Given the description of an element on the screen output the (x, y) to click on. 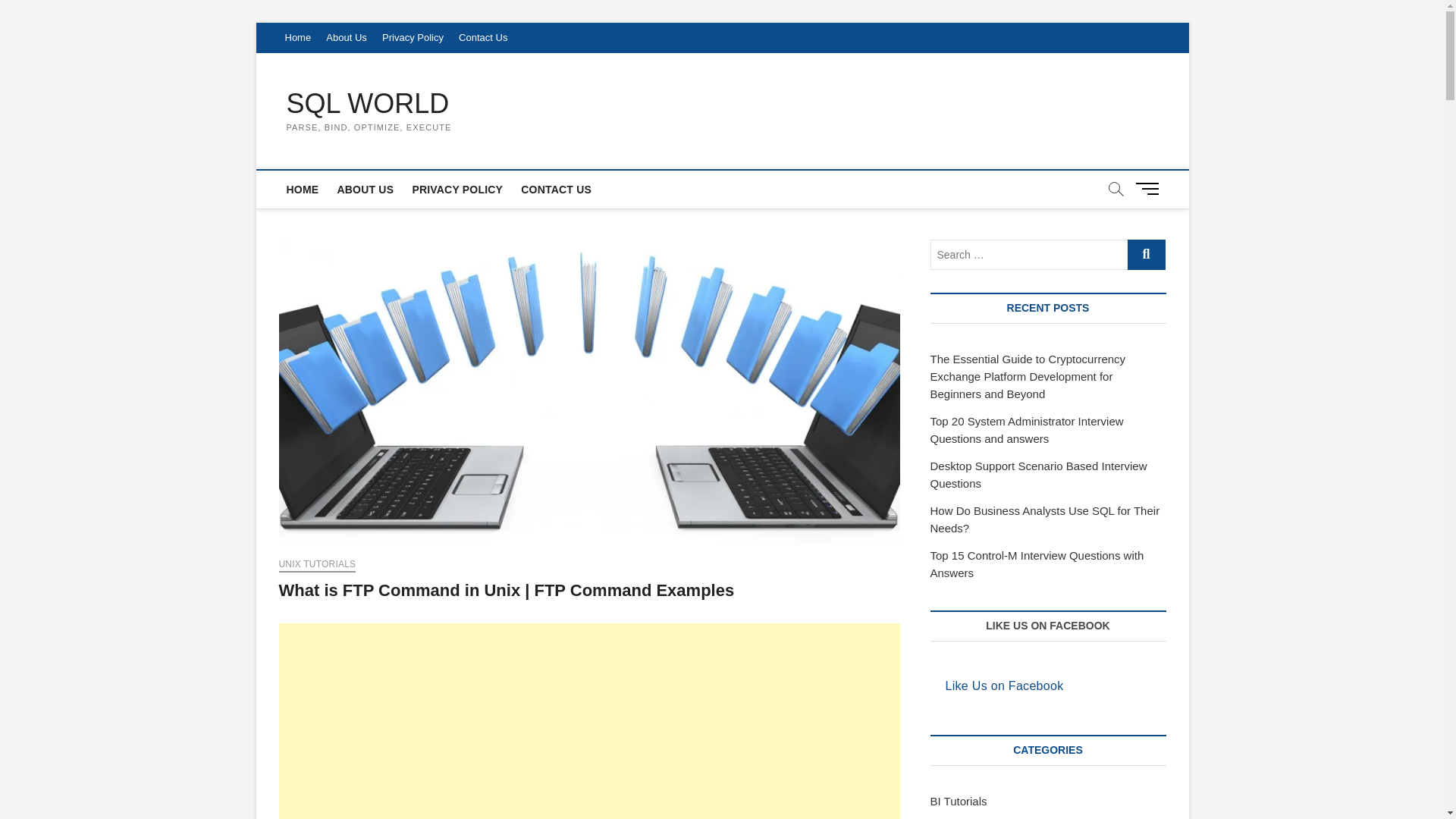
CONTACT US (555, 189)
ABOUT US (365, 189)
Like Us on Facebook (1003, 685)
Top 20 System Administrator Interview Questions and answers (1026, 429)
HOME (302, 189)
SQL WORLD (368, 103)
Top 15 Control-M Interview Questions with Answers (1036, 563)
About Us (346, 37)
Menu Button (1150, 187)
How Do Business Analysts Use SQL for Their Needs? (1044, 519)
LIKE US ON FACEBOOK (1047, 625)
SQL WORLD (368, 103)
Privacy Policy (412, 37)
